Given the description of an element on the screen output the (x, y) to click on. 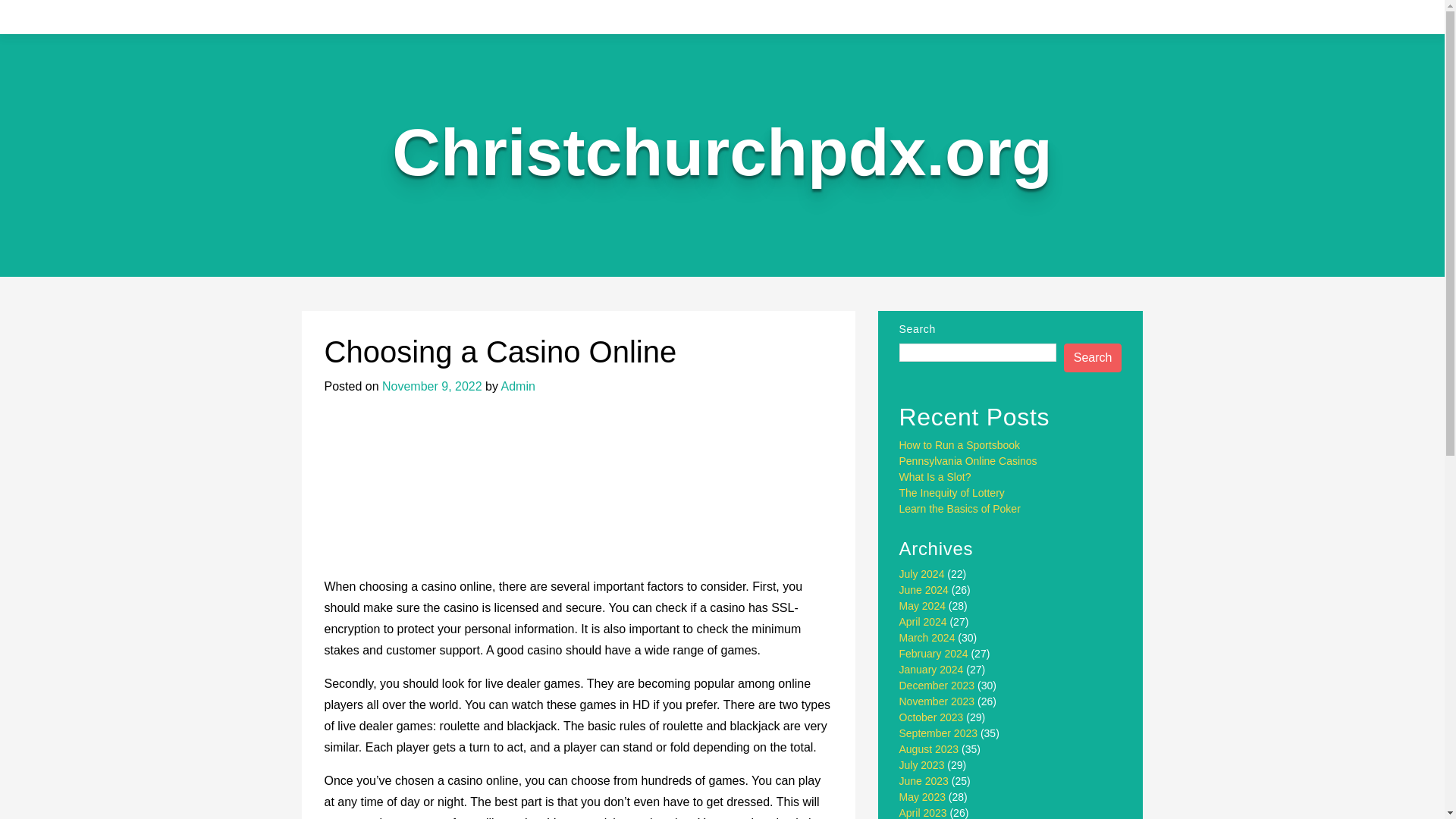
January 2024 (931, 669)
May 2024 (921, 605)
March 2024 (927, 637)
September 2023 (938, 733)
What Is a Slot? (935, 476)
The Inequity of Lottery (951, 492)
November 2023 (937, 701)
June 2024 (924, 589)
Search (1093, 357)
November 9, 2022 (431, 386)
Admin (517, 386)
How to Run a Sportsbook (959, 444)
April 2023 (923, 812)
April 2024 (923, 621)
July 2023 (921, 765)
